Given the description of an element on the screen output the (x, y) to click on. 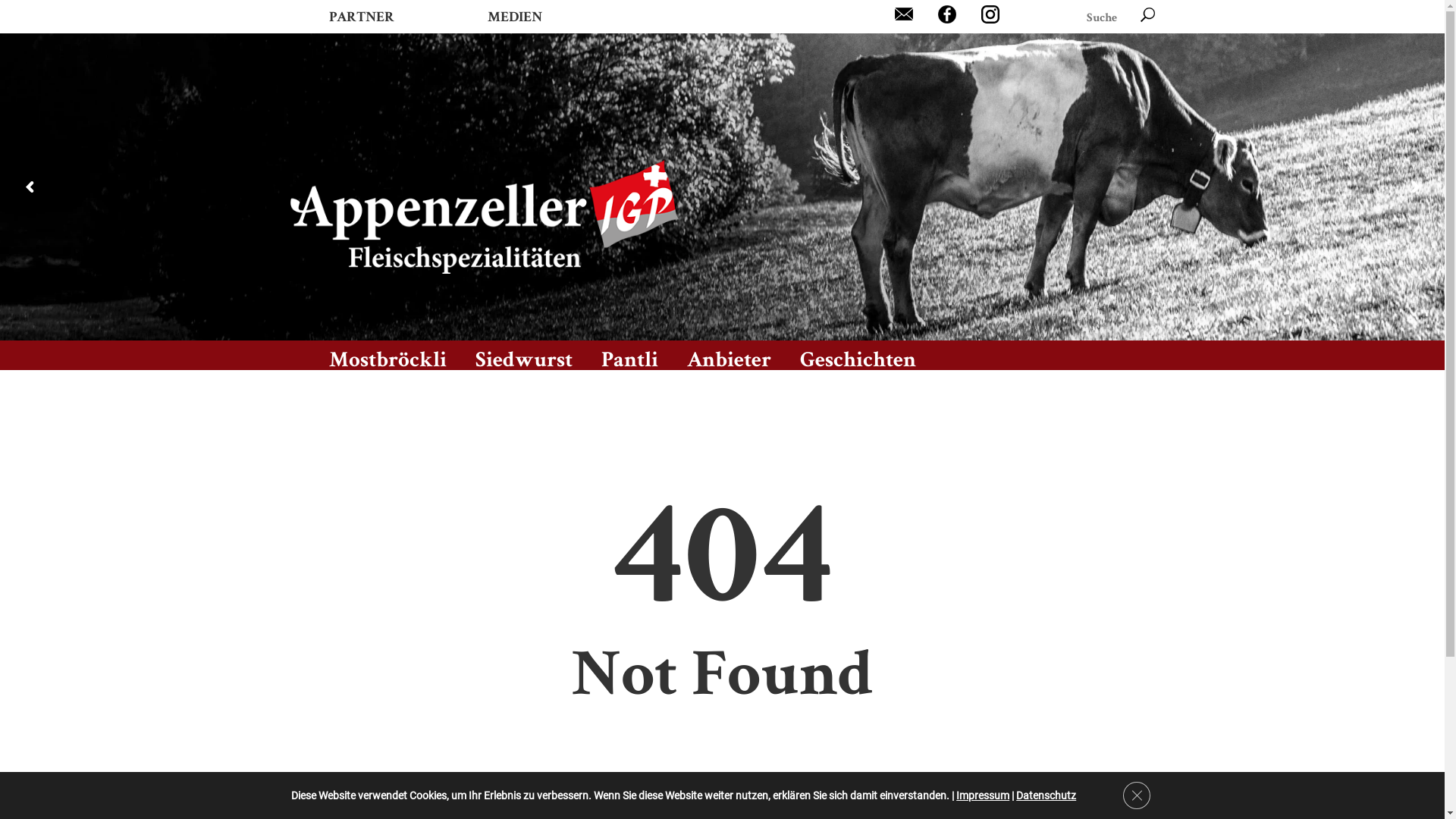
Datenschutz Element type: text (1046, 795)
Geschichten Element type: text (857, 355)
  Element type: text (1147, 14)
Pantli Element type: text (628, 355)
PARTNER Element type: text (361, 16)
Siedwurst Element type: text (522, 355)
Impressum Element type: text (982, 795)
Anbieter Element type: text (729, 355)
MEDIEN Element type: text (513, 16)
Close GDPR Cookie Banner Element type: text (1136, 795)
